Given the description of an element on the screen output the (x, y) to click on. 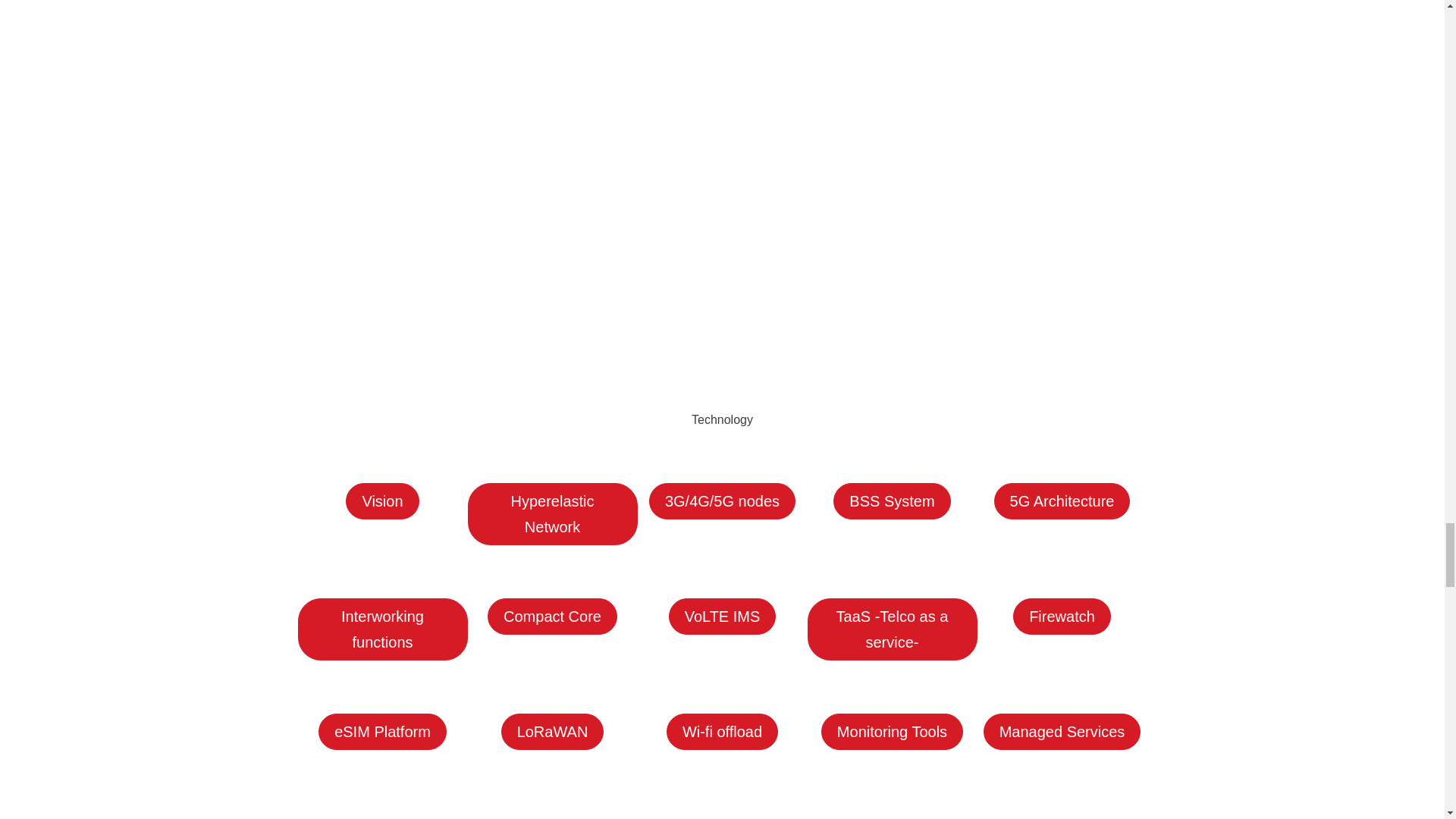
VoLTE IMS (722, 616)
Hyperelastic Network (552, 514)
Managed Services (1062, 731)
Vision (382, 501)
5G Architecture (1062, 501)
Firewatch (1061, 616)
LoRaWAN (552, 731)
BSS System (891, 501)
Interworking functions (382, 629)
TaaS -Telco as a service- (891, 629)
